Given the description of an element on the screen output the (x, y) to click on. 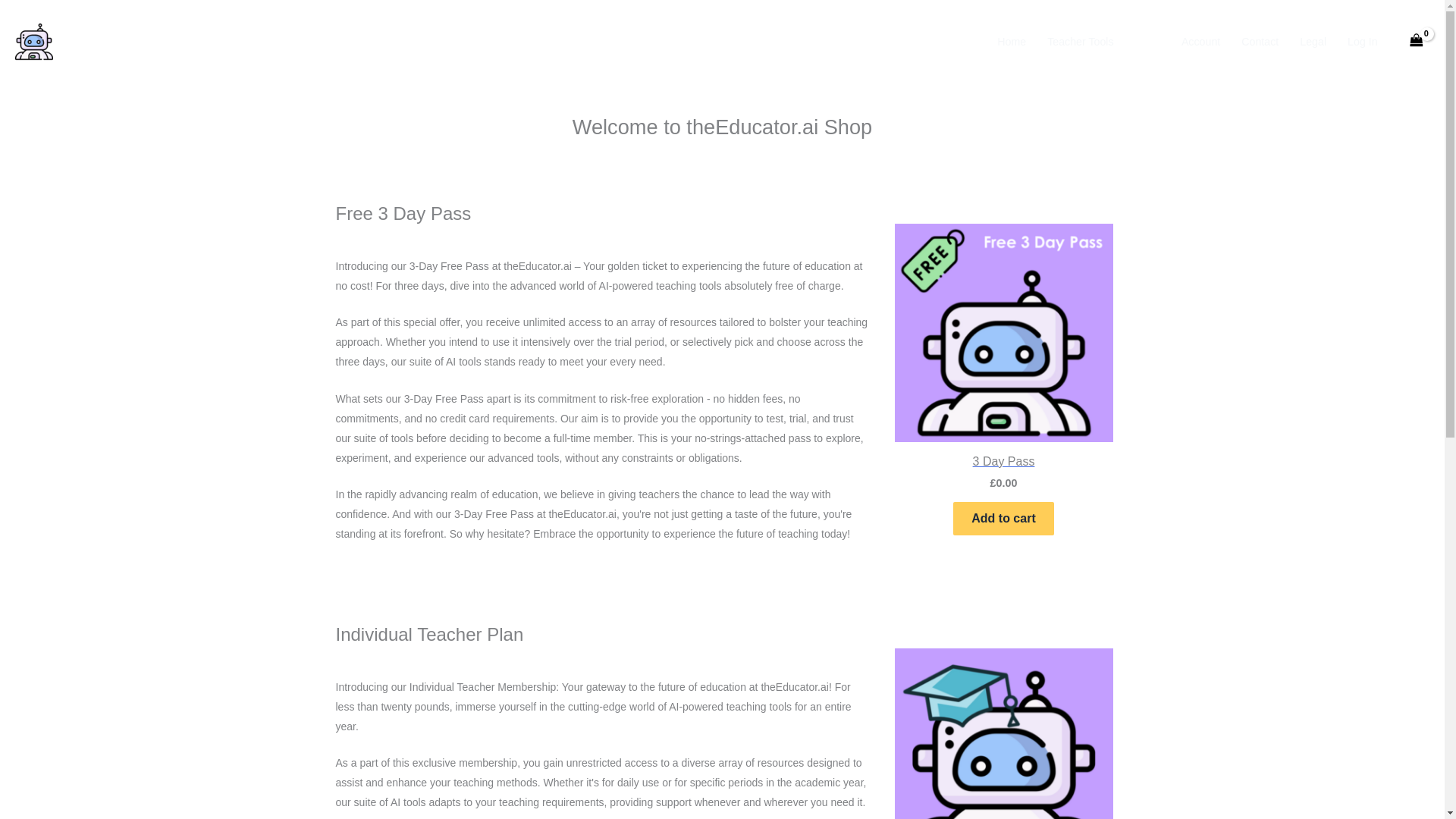
Contact (1259, 41)
Home (1011, 41)
Log In (1362, 41)
Add to cart (1002, 519)
Account (1200, 41)
Teacher Tools (1080, 41)
3 Day Pass (1003, 462)
Shop (1147, 41)
Legal (1312, 41)
theEducator.ai (140, 40)
